Given the description of an element on the screen output the (x, y) to click on. 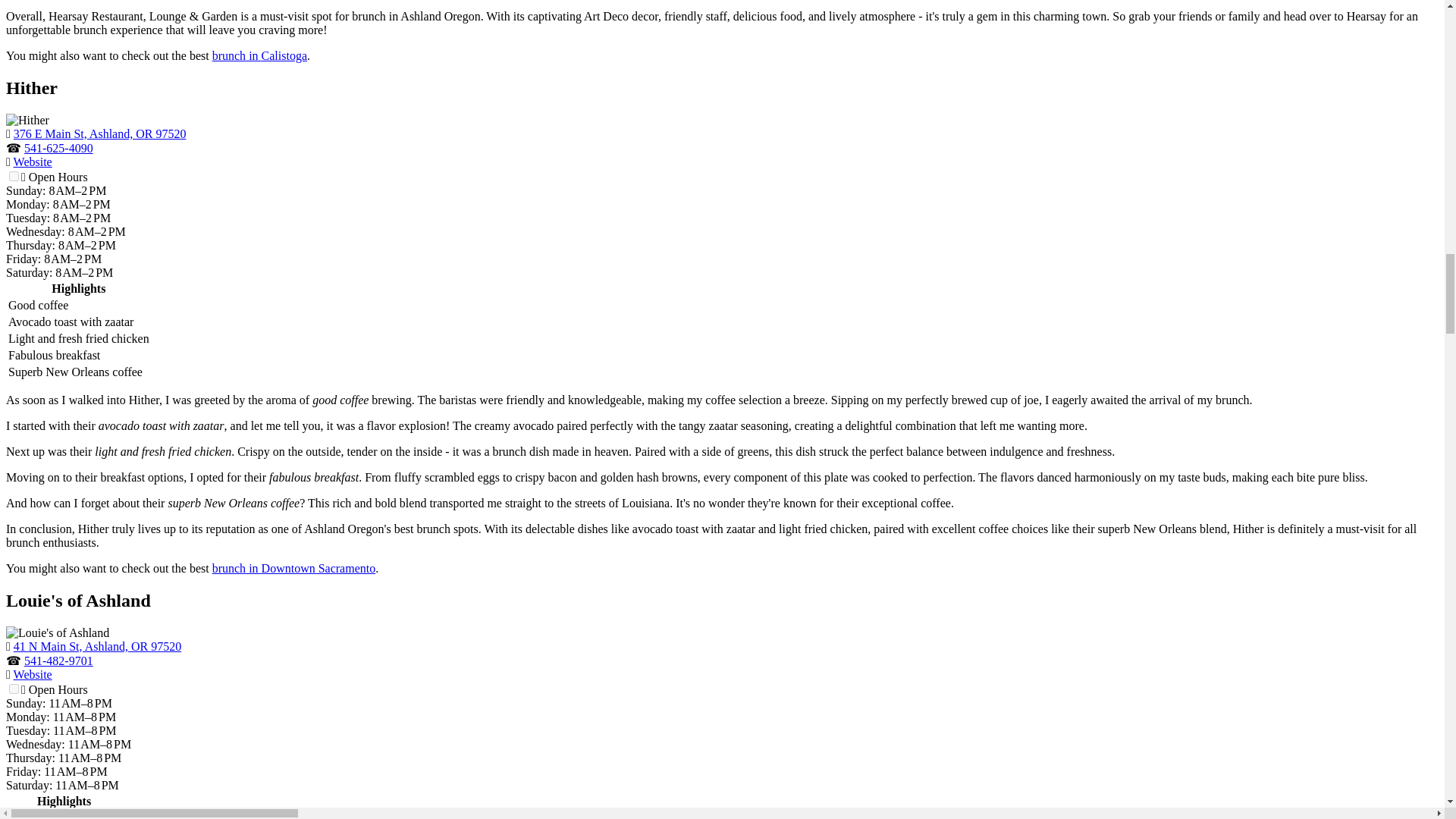
on (13, 688)
on (13, 175)
376 E Main St, Ashland, OR 97520 (99, 133)
brunch in Downtown Sacramento (293, 567)
41 N Main St, Ashland, OR 97520 (96, 645)
brunch in Calistoga (259, 55)
541-625-4090 (58, 147)
Website (32, 161)
